Given the description of an element on the screen output the (x, y) to click on. 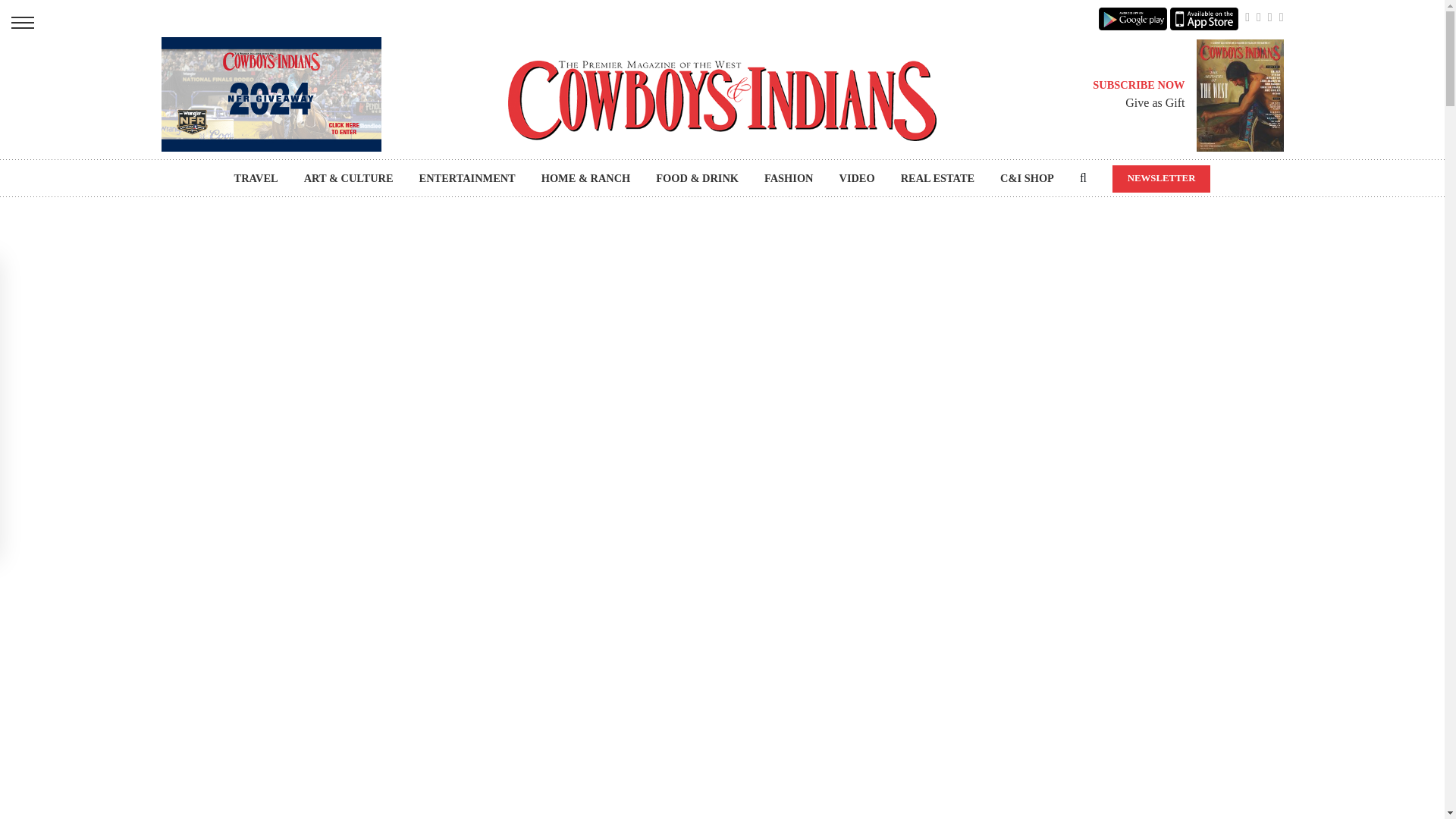
Cowboys and Indians Magazine (722, 100)
